Given the description of an element on the screen output the (x, y) to click on. 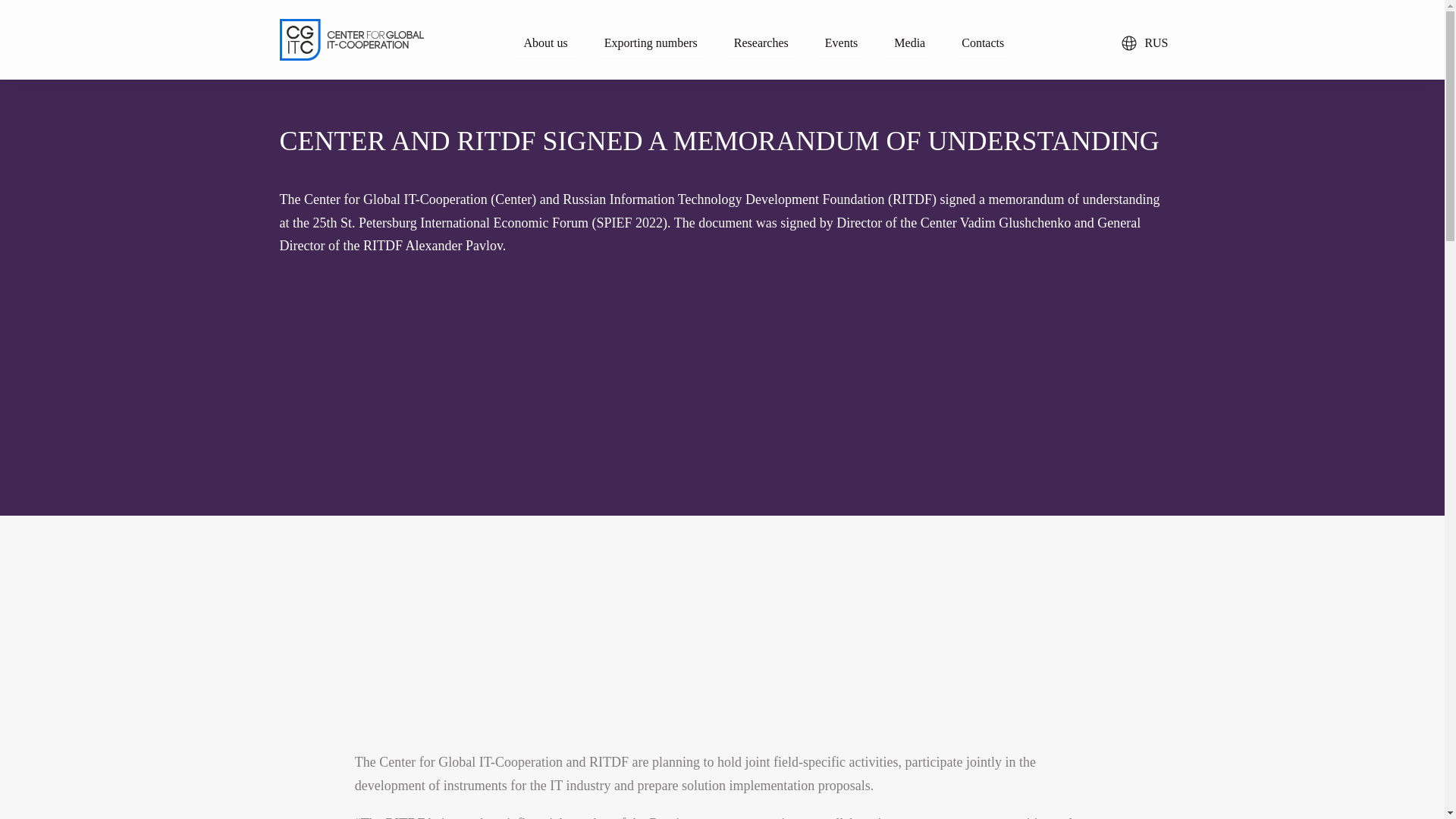
RUS (1144, 42)
Exporting numbers (650, 40)
Researches (761, 40)
Contacts (982, 40)
Media (909, 40)
About us (545, 40)
Events (841, 40)
